Given the description of an element on the screen output the (x, y) to click on. 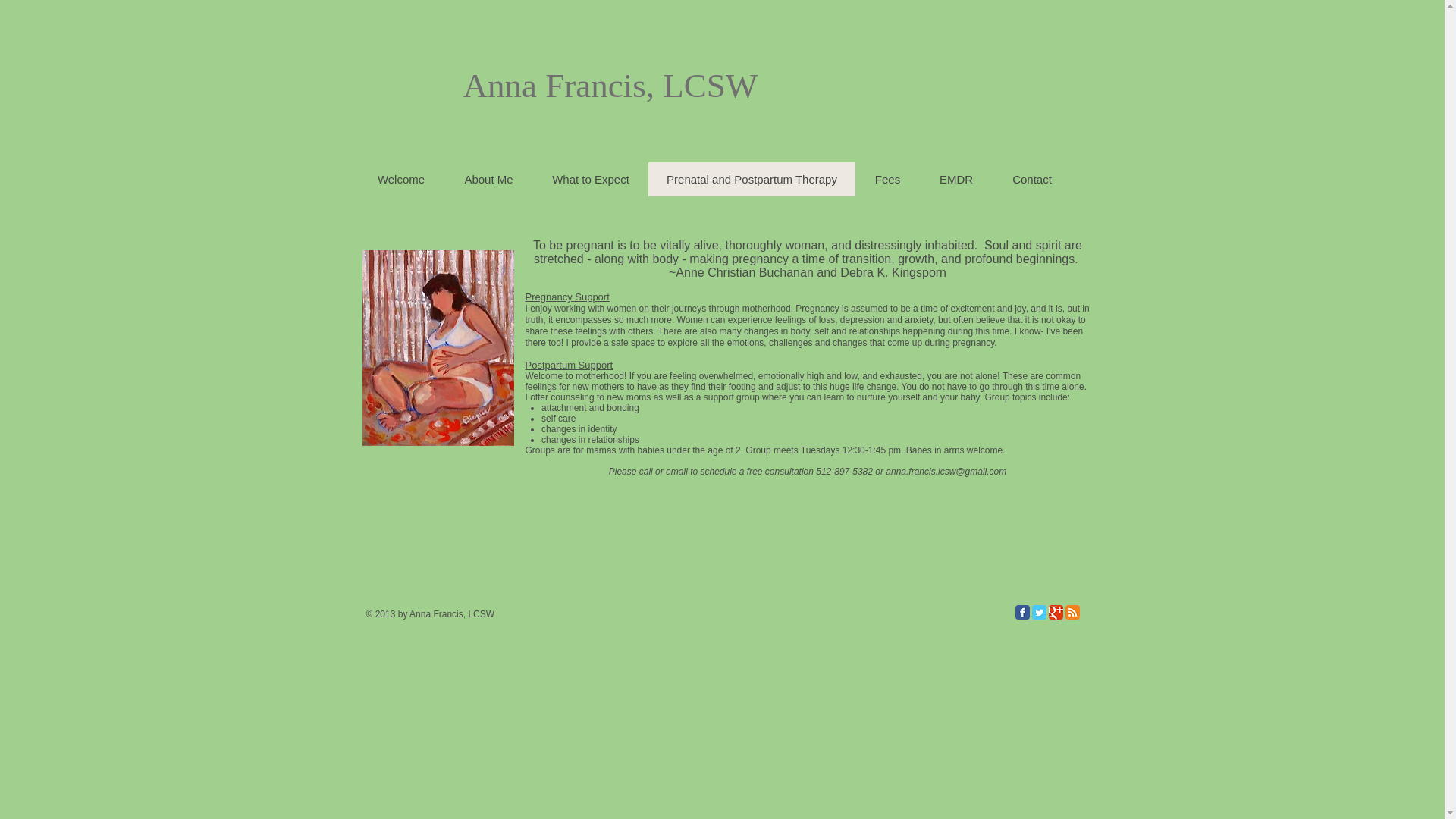
About Me (488, 179)
Contact (1030, 179)
What to Expect (589, 179)
Welcome (401, 179)
Fees (888, 179)
EMDR (954, 179)
Prenatal and Postpartum Therapy (750, 179)
